Given the description of an element on the screen output the (x, y) to click on. 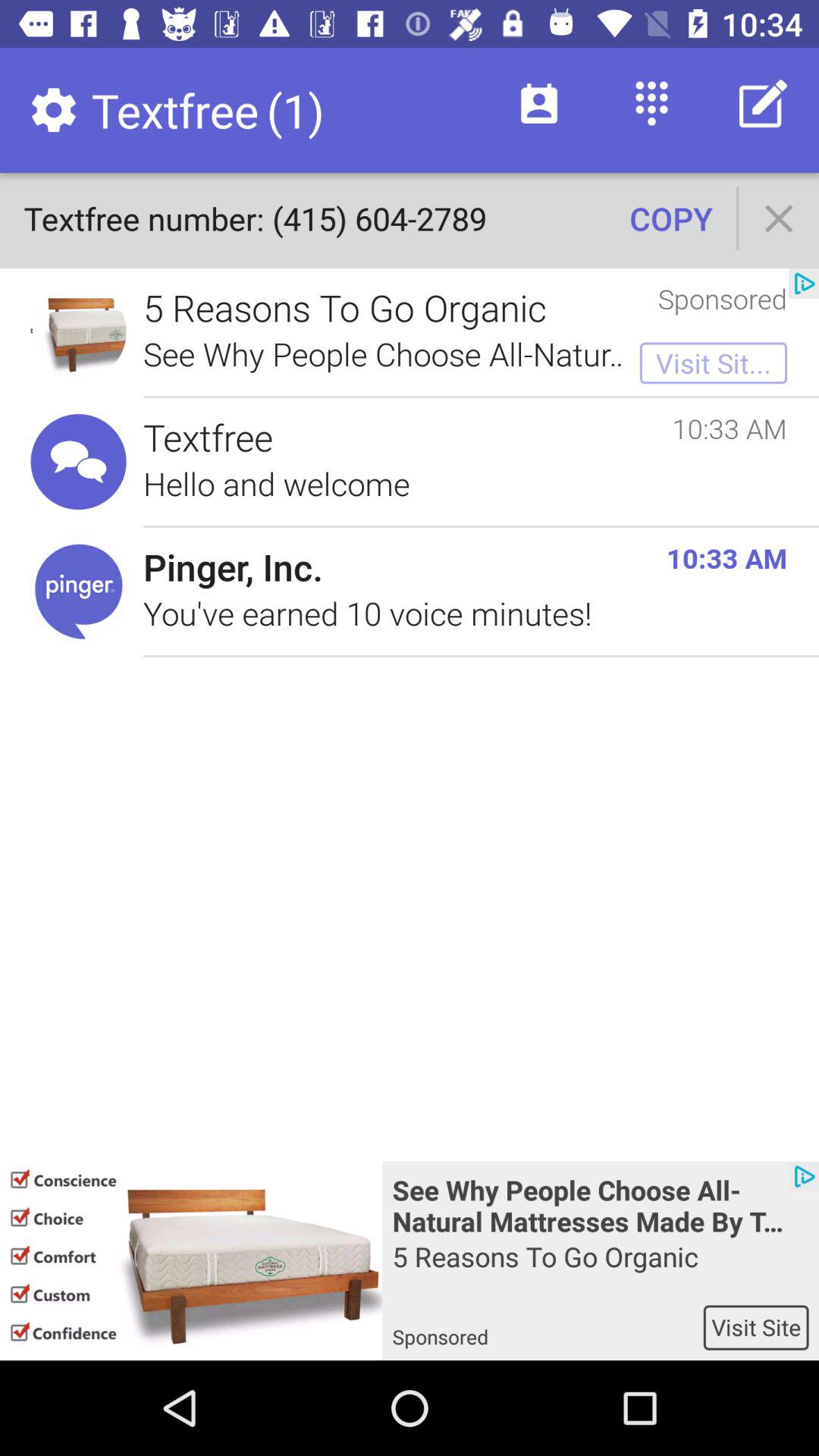
turn on the visit site (755, 1327)
